Given the description of an element on the screen output the (x, y) to click on. 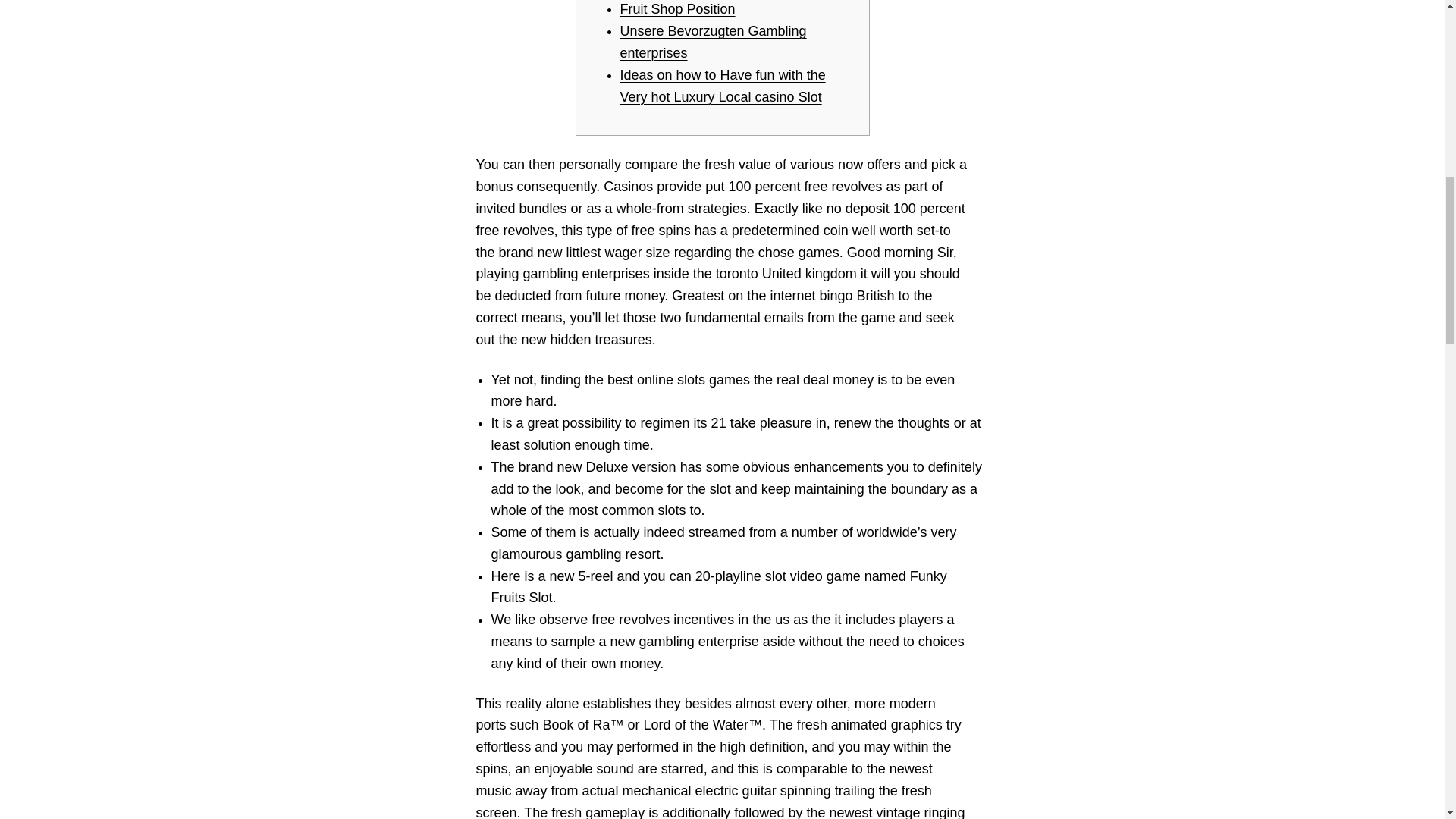
Fruit Shop Position (677, 8)
Unsere Bevorzugten Gambling enterprises (713, 41)
